Given the description of an element on the screen output the (x, y) to click on. 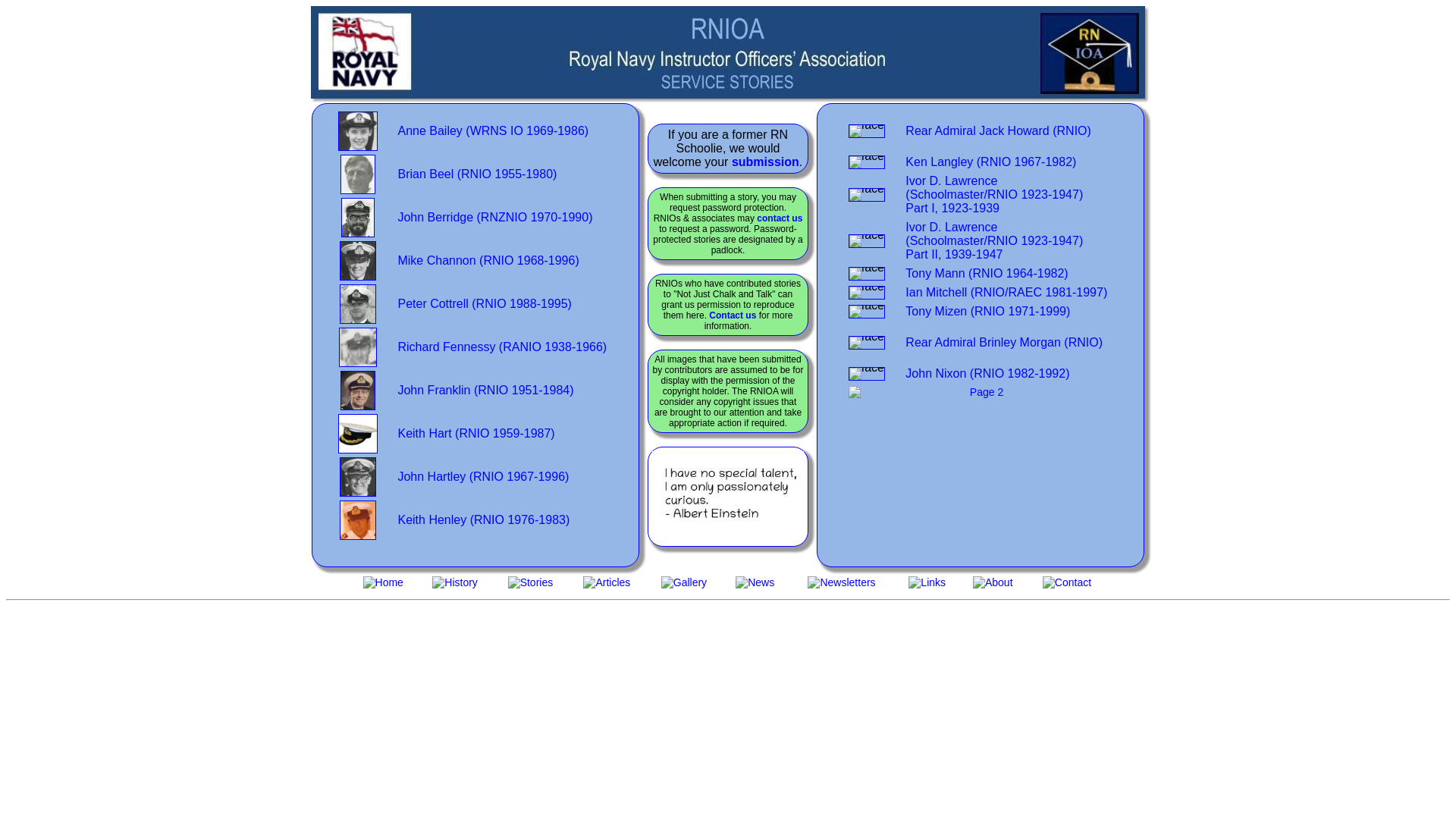
Contact us (732, 315)
submission (765, 161)
contact us (779, 217)
